Given the description of an element on the screen output the (x, y) to click on. 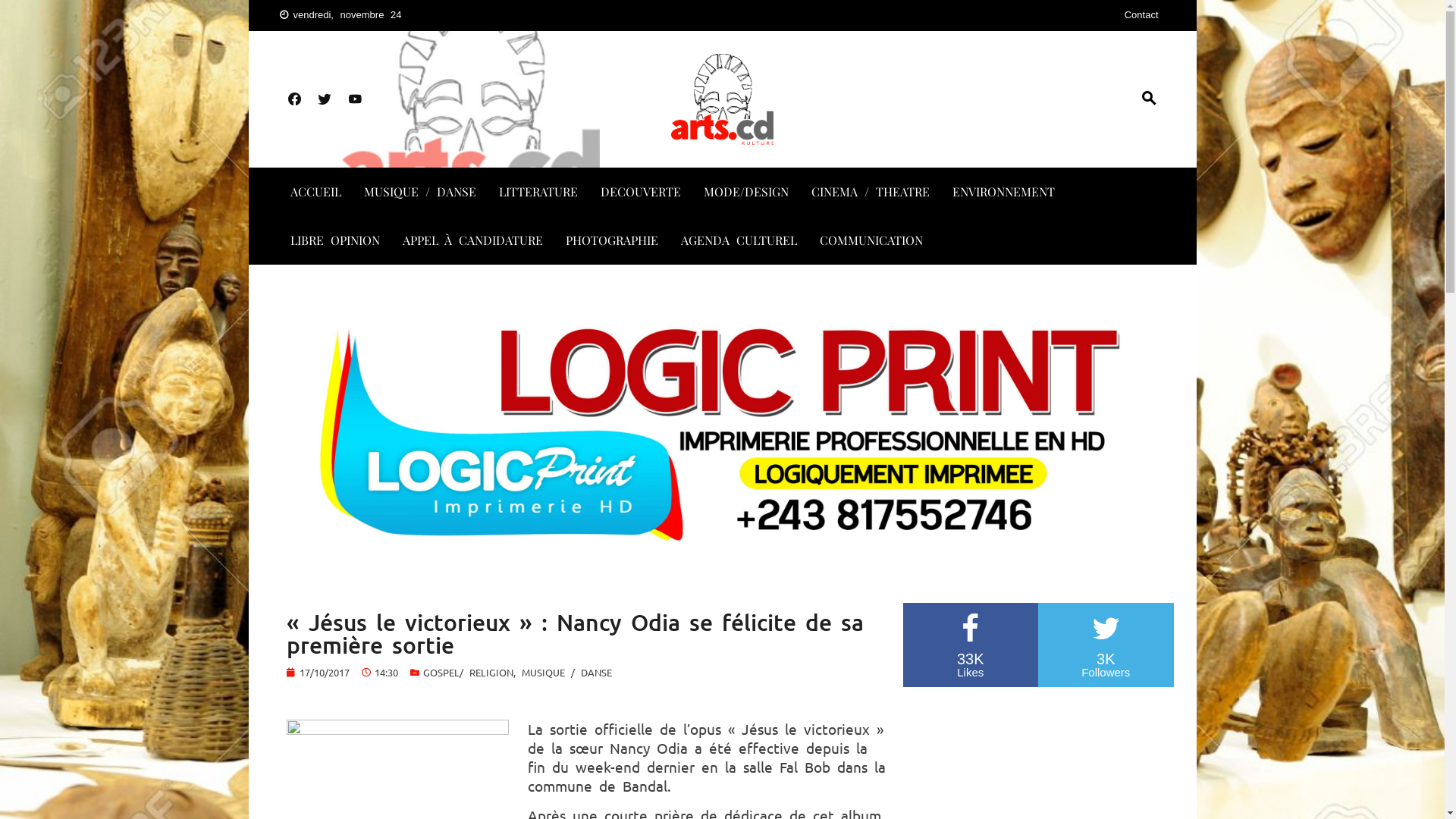
GOSPEL/ RELIGION Element type: text (468, 671)
MODE/DESIGN Element type: text (745, 191)
ACCUEIL Element type: text (314, 191)
PHOTOGRAPHIE Element type: text (611, 240)
COMMUNICATION Element type: text (870, 240)
ENVIRONNEMENT Element type: text (1003, 191)
AGENDA CULTUREL Element type: text (738, 240)
LITTERATURE Element type: text (537, 191)
MUSIQUE / DANSE Element type: text (420, 191)
MUSIQUE / DANSE Element type: text (566, 671)
CINEMA / THEATRE Element type: text (870, 191)
3K
Followers Element type: text (1105, 644)
LIBRE OPINION Element type: text (334, 240)
Contact Element type: text (1141, 14)
DECOUVERTE Element type: text (640, 191)
33K
Likes Element type: text (970, 644)
